Given the description of an element on the screen output the (x, y) to click on. 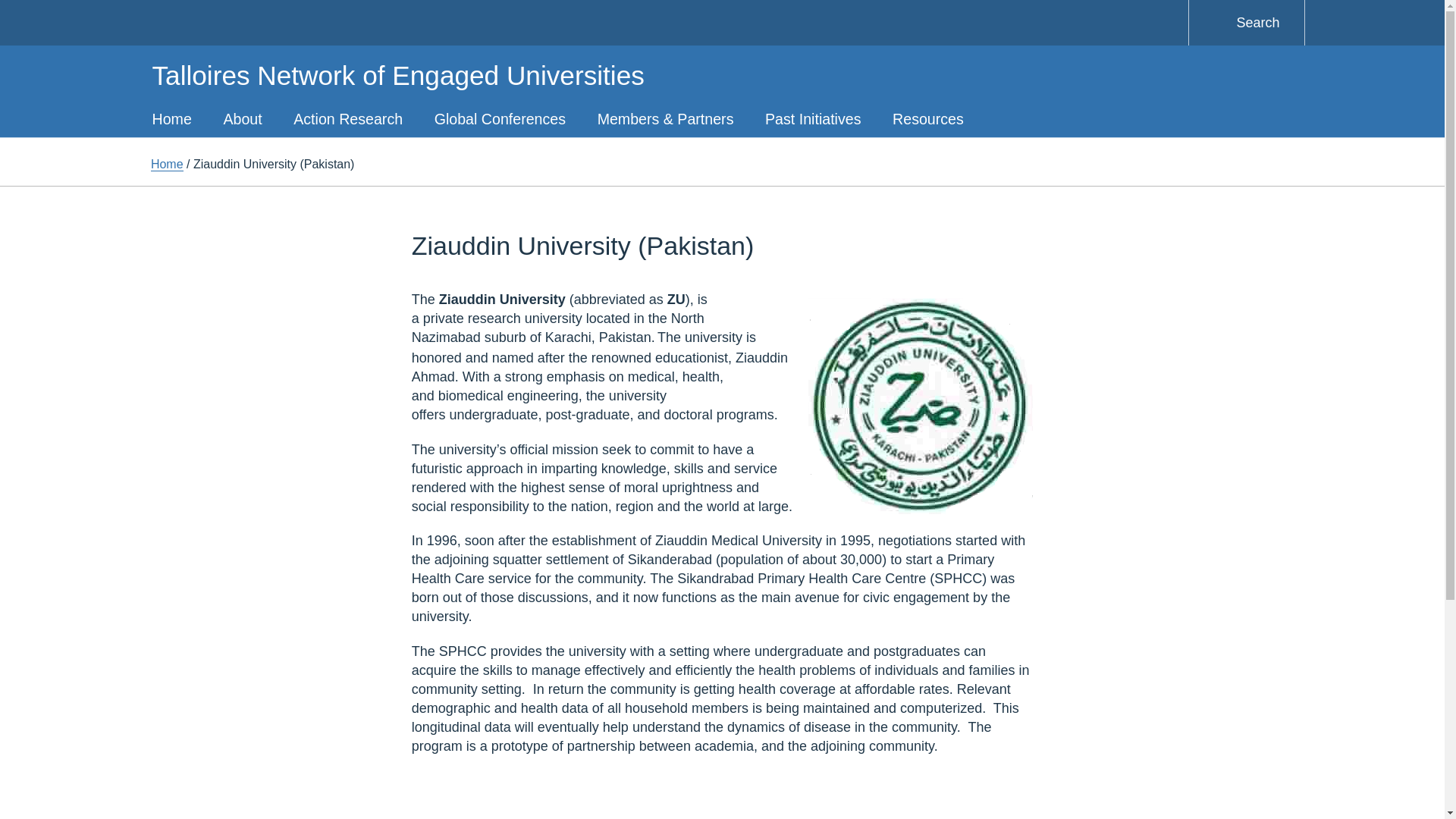
Talloires Network of Engaged Universities (397, 75)
Home (167, 164)
Global Conferences (499, 118)
Home (172, 118)
Action Research (347, 118)
Ziauddin-University (912, 405)
About (243, 118)
